Given the description of an element on the screen output the (x, y) to click on. 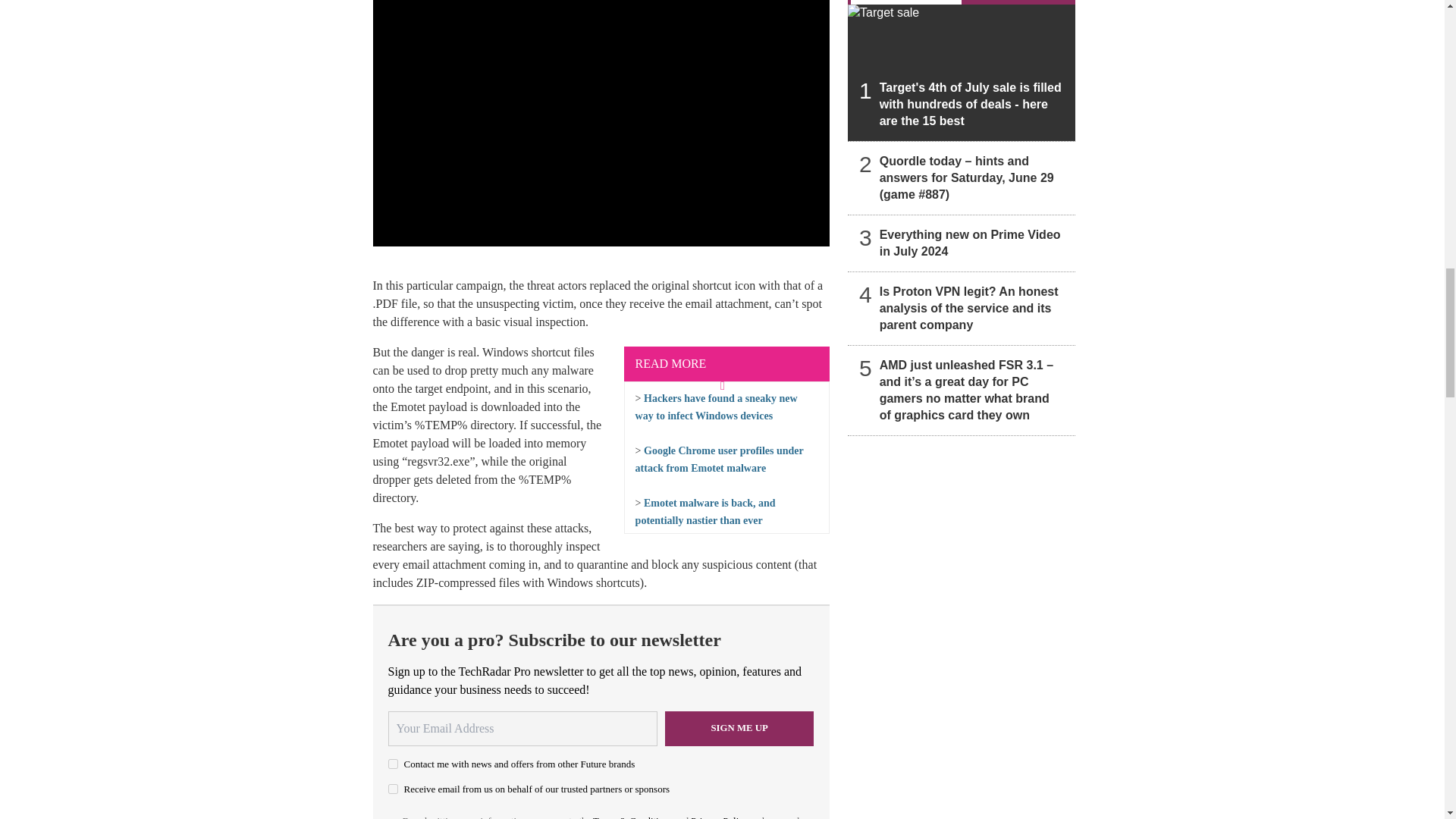
Sign me up (739, 728)
on (392, 788)
on (392, 764)
